Given the description of an element on the screen output the (x, y) to click on. 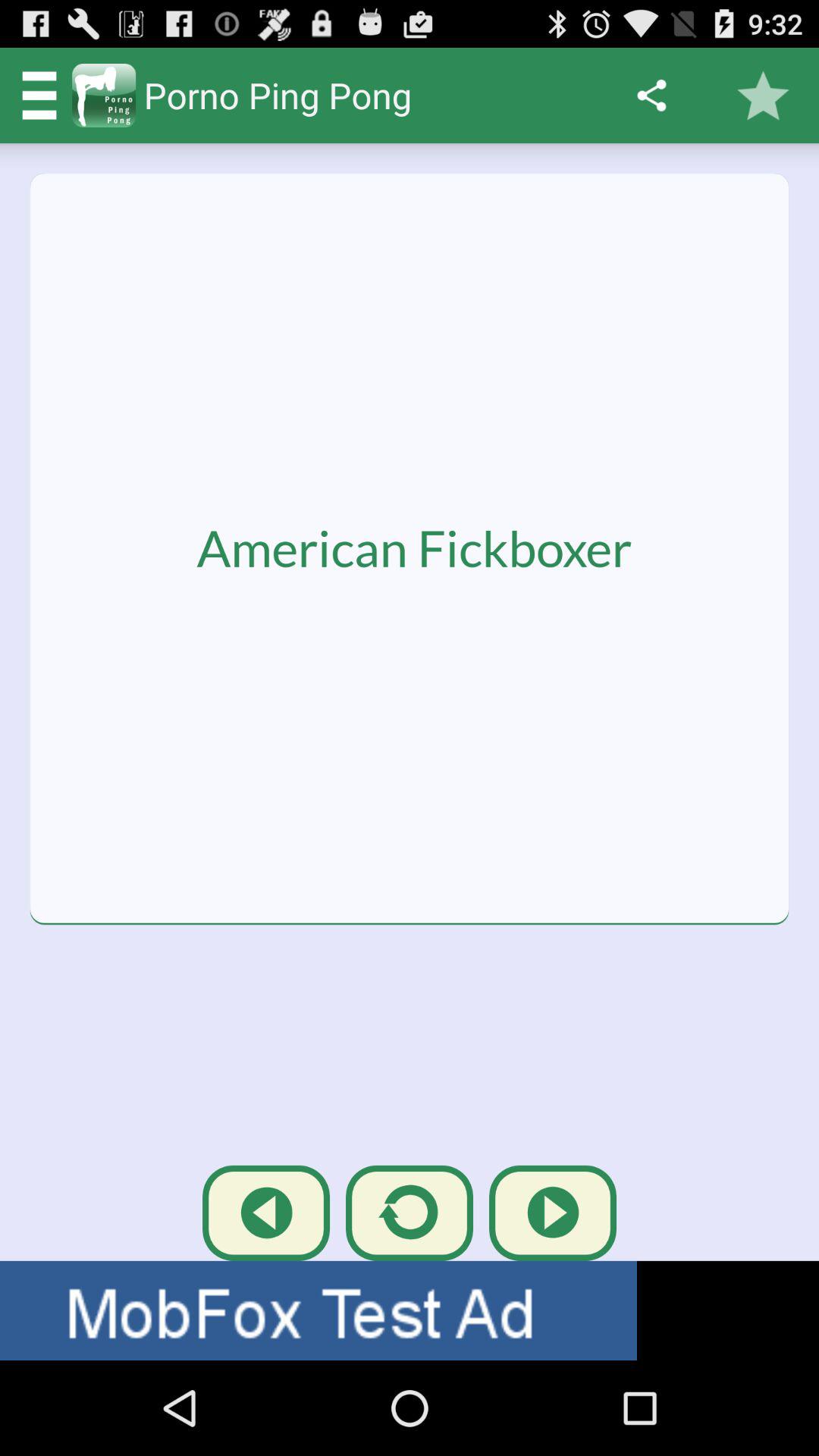
click on share icon left to star (651, 95)
click on the third button at the bottom of the page (552, 1213)
